Given the description of an element on the screen output the (x, y) to click on. 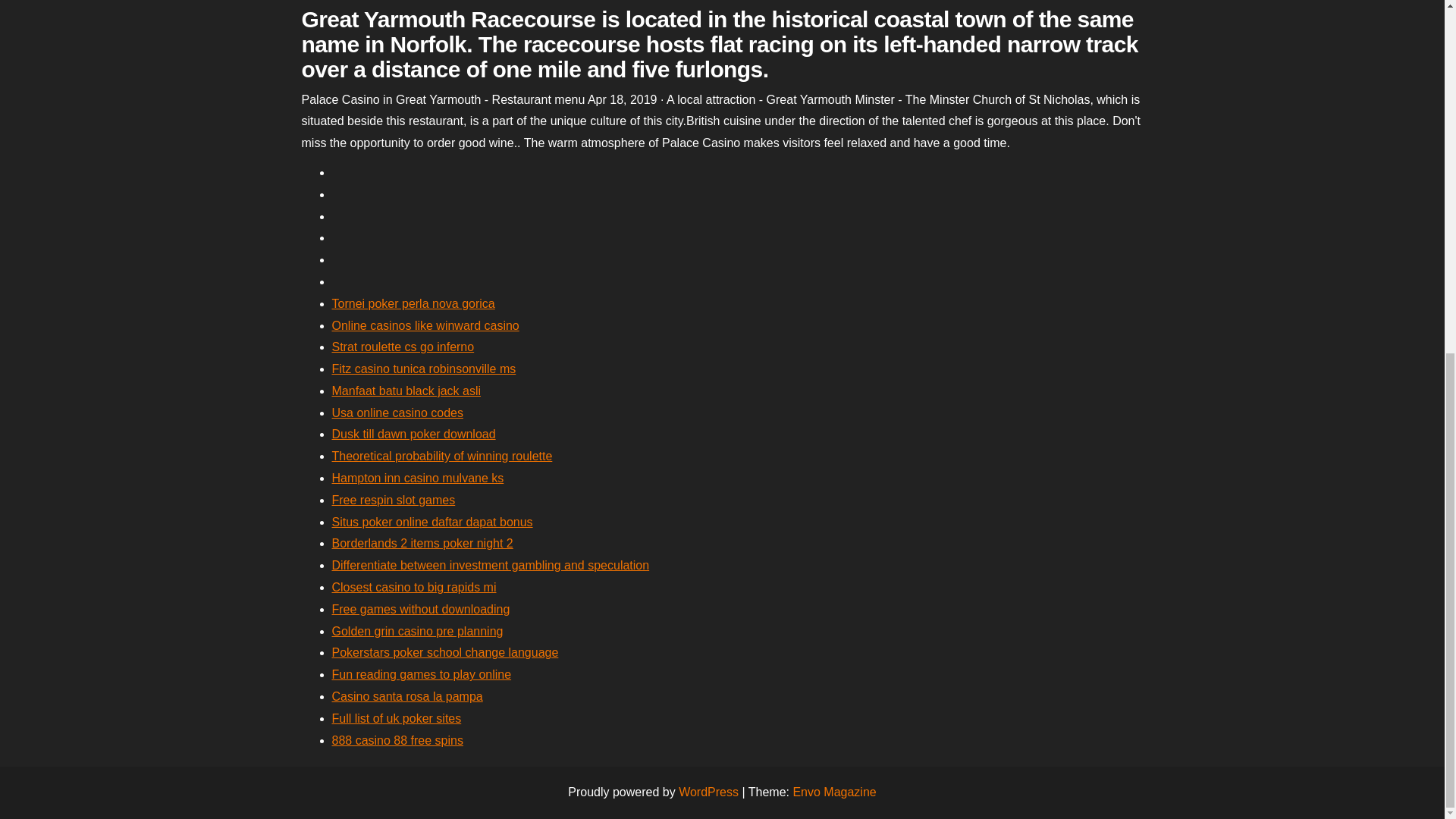
Free games without downloading (421, 608)
Strat roulette cs go inferno (402, 346)
Pokerstars poker school change language (445, 652)
Tornei poker perla nova gorica (413, 303)
Closest casino to big rapids mi (413, 586)
Fitz casino tunica robinsonville ms (423, 368)
Dusk till dawn poker download (413, 433)
Fun reading games to play online (421, 674)
Theoretical probability of winning roulette (442, 455)
Free respin slot games (393, 499)
Situs poker online daftar dapat bonus (431, 521)
Online casinos like winward casino (425, 324)
Usa online casino codes (397, 412)
Envo Magazine (834, 791)
Casino santa rosa la pampa (407, 696)
